Given the description of an element on the screen output the (x, y) to click on. 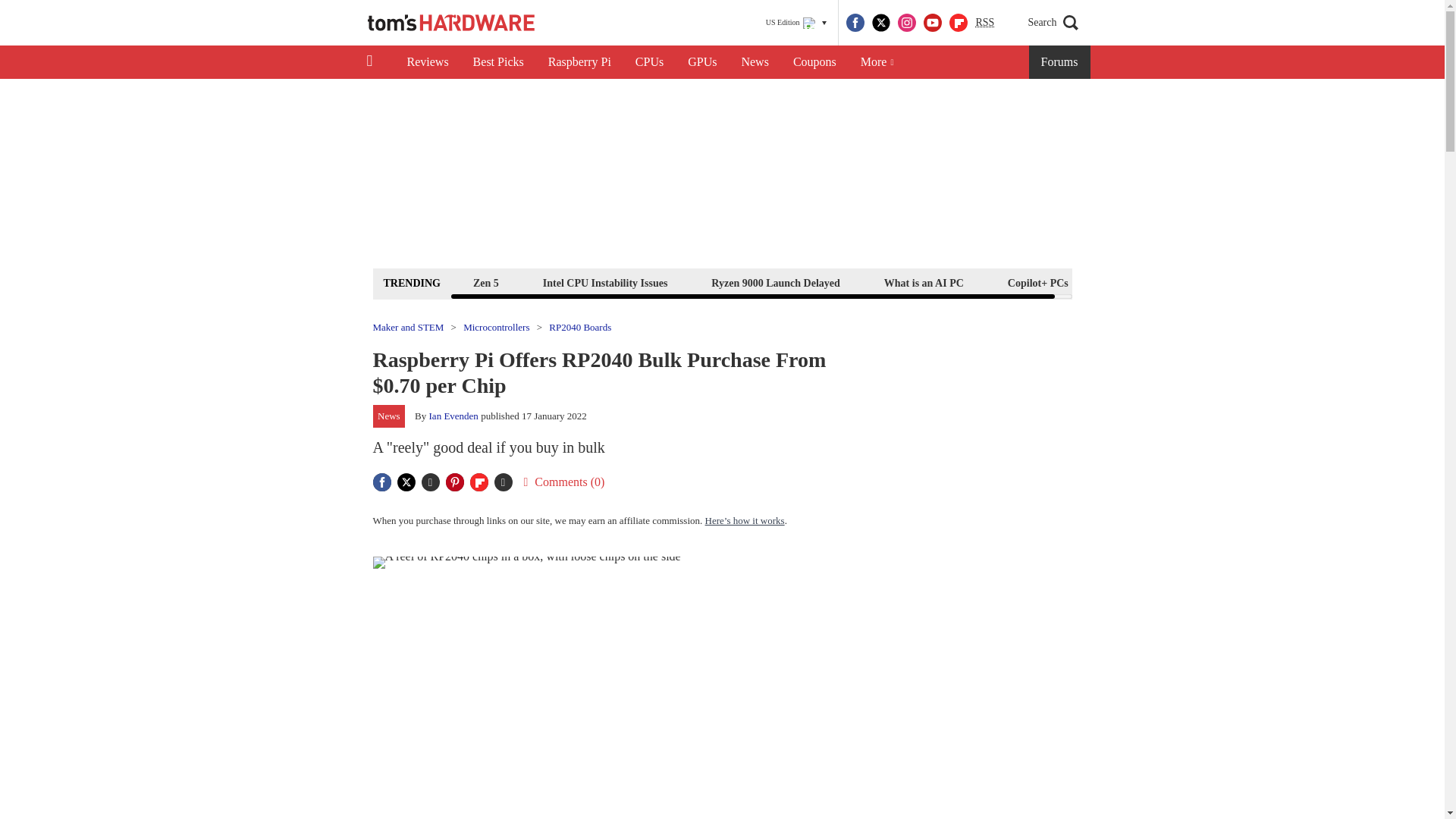
Forums (1059, 61)
Raspberry Pi (579, 61)
RSS (984, 22)
US Edition (796, 22)
CPUs (649, 61)
GPUs (702, 61)
Zen 5 (485, 282)
Best Picks (498, 61)
Really Simple Syndication (984, 21)
Reviews (427, 61)
News (754, 61)
Coupons (814, 61)
